Given the description of an element on the screen output the (x, y) to click on. 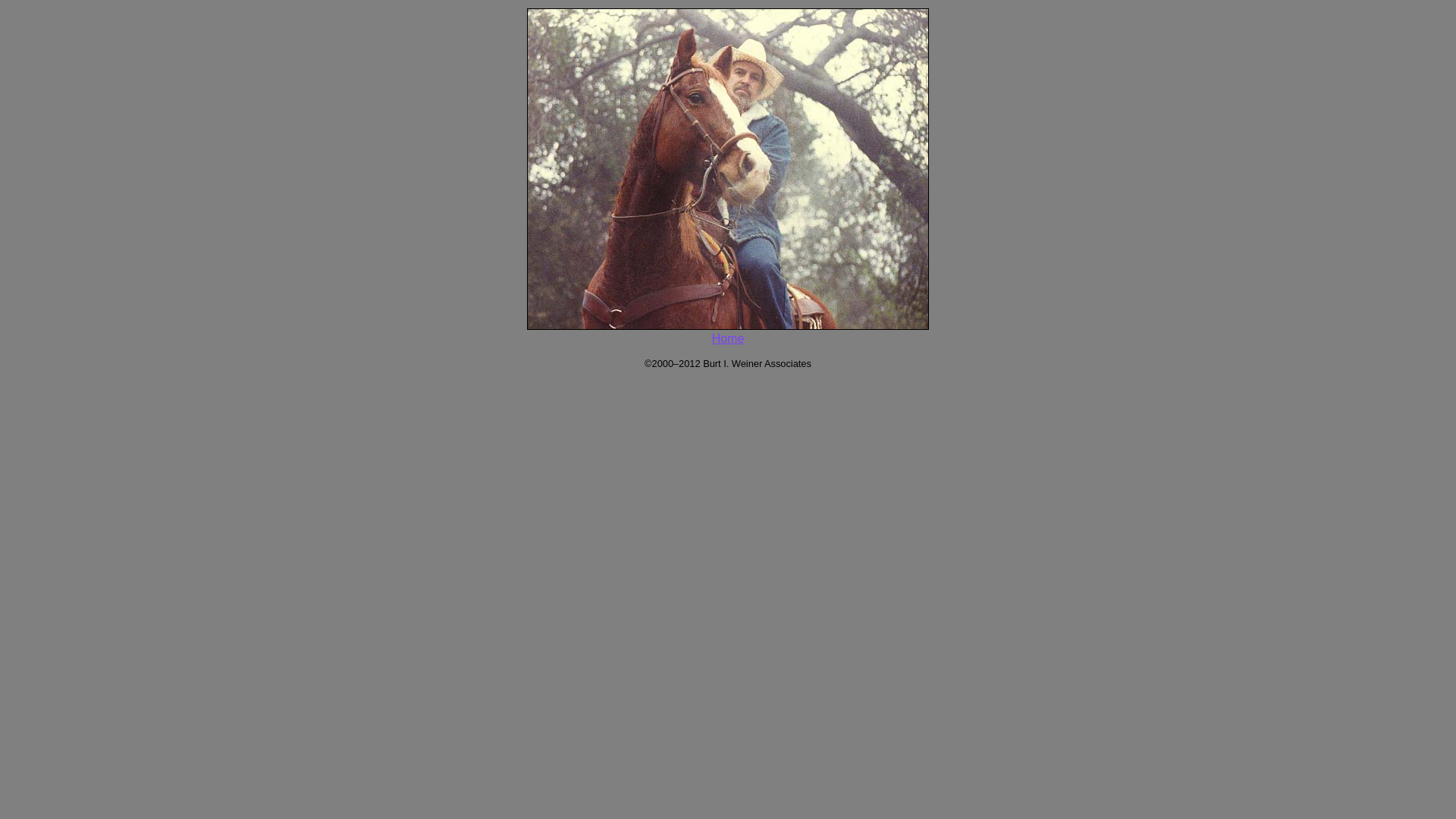
Home Element type: text (728, 338)
